Given the description of an element on the screen output the (x, y) to click on. 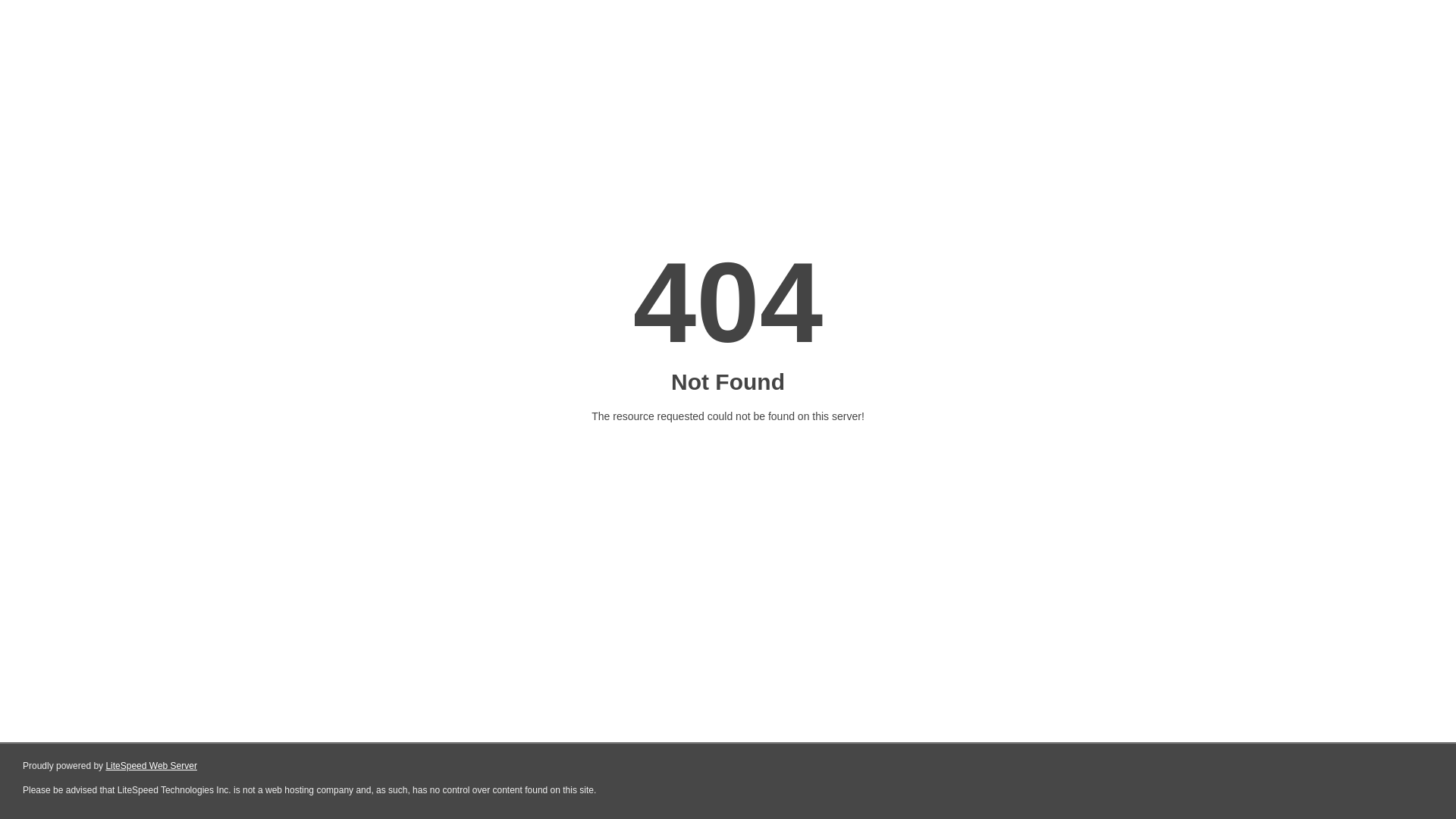
LiteSpeed Web Server Element type: text (151, 765)
